Given the description of an element on the screen output the (x, y) to click on. 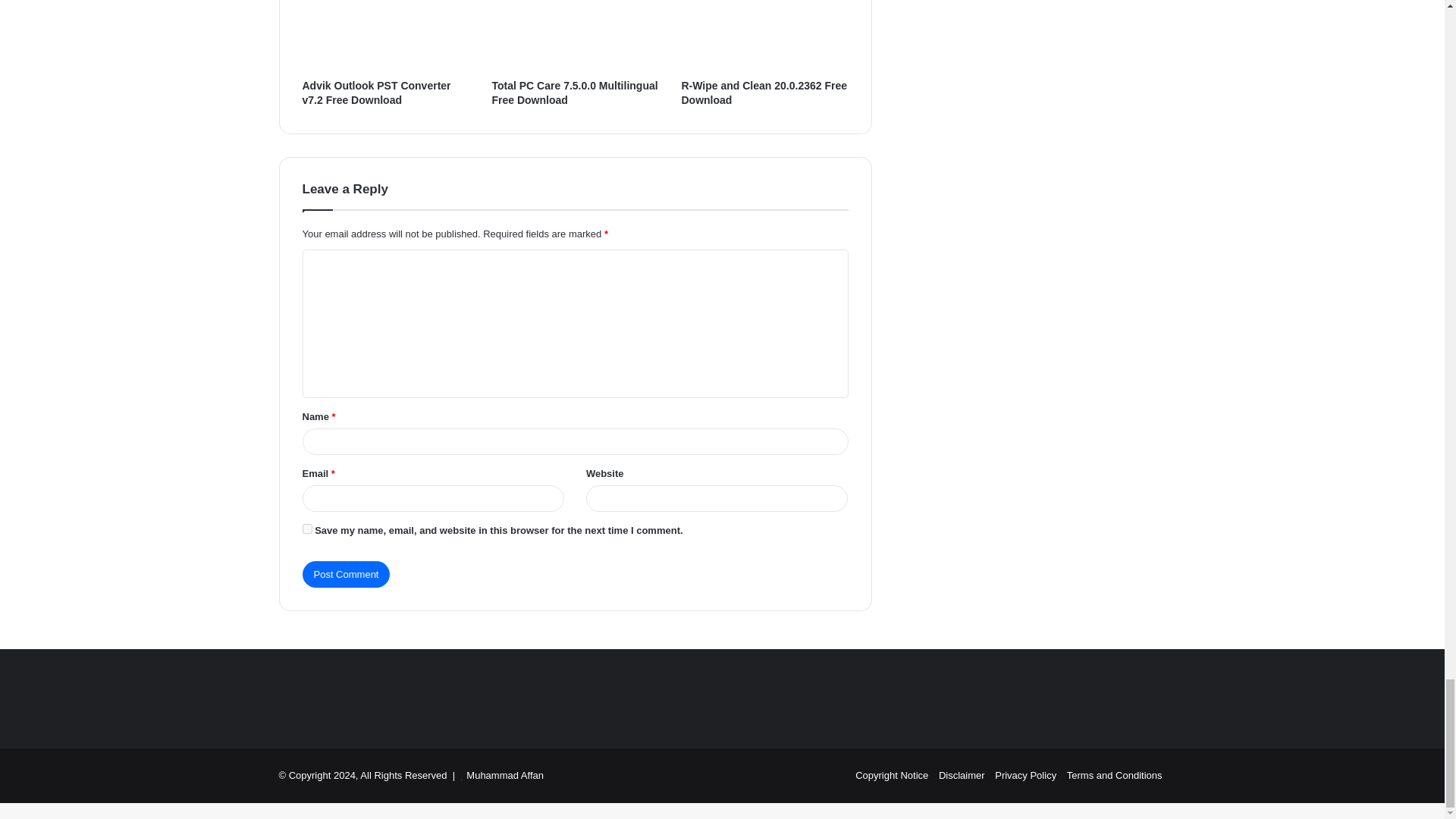
yes (306, 528)
Post Comment (345, 574)
